Given the description of an element on the screen output the (x, y) to click on. 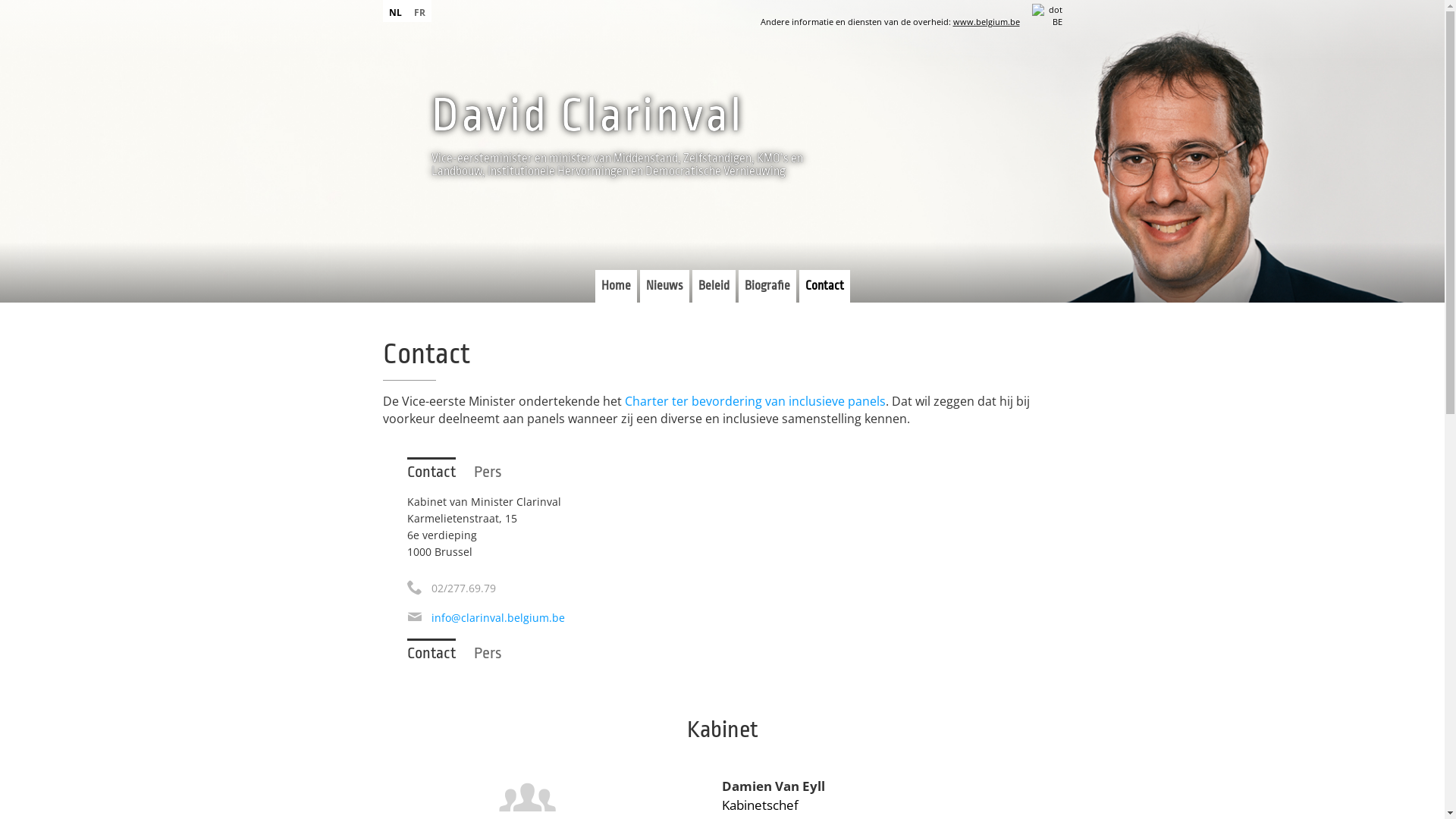
linkedin Element type: text (491, 209)
David Clarinval Element type: text (586, 115)
NL Element type: text (394, 11)
Overslaan en naar de inhoud gaan Element type: text (98, 0)
Charter ter bevordering van inclusieve panels Element type: text (754, 400)
twitter Element type: text (442, 209)
instagram Element type: text (515, 209)
facebook Element type: text (467, 209)
Home Element type: text (615, 286)
Contact Element type: text (430, 470)
Nieuws Element type: text (664, 286)
Beleid Element type: text (712, 286)
Pers Element type: text (486, 652)
www.belgium.be Element type: text (985, 21)
Pers Element type: text (486, 471)
info@clarinval.belgium.be Element type: text (497, 617)
Contact Element type: text (824, 286)
Biografie Element type: text (767, 286)
Contact Element type: text (430, 651)
FR Element type: text (419, 11)
